Given the description of an element on the screen output the (x, y) to click on. 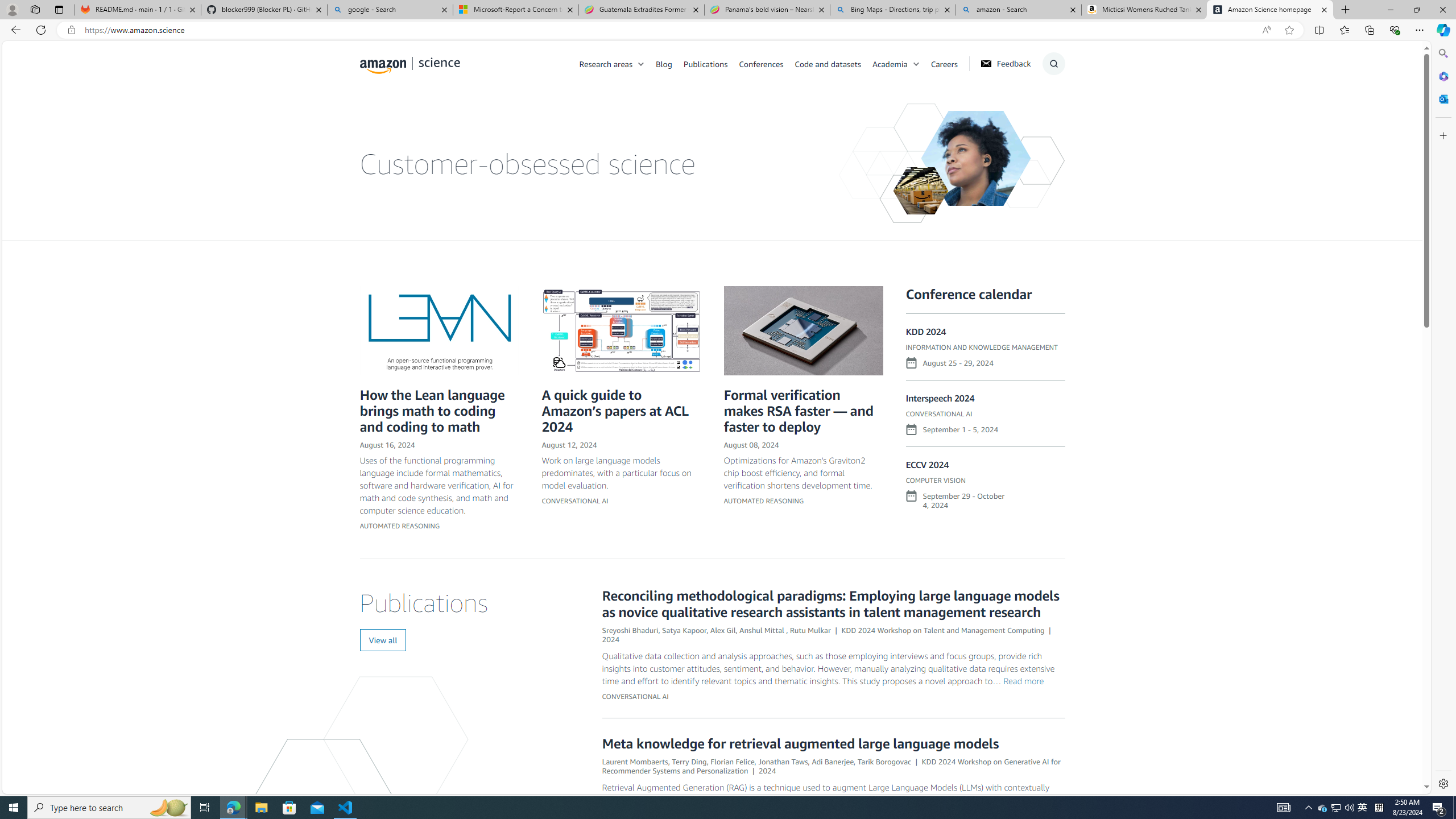
Show Search Form (1053, 63)
Conferences (760, 63)
Submit Search (1049, 108)
Amazon Science homepage (1270, 9)
Amazon Science Fulfillment Center OAK4 in Tracy, CA (920, 190)
Code and datasets (833, 63)
Research areas (606, 63)
Research areas (617, 63)
COMPUTER VISION (935, 479)
Academia (901, 63)
Meta knowledge for retrieval augmented large language models (799, 742)
AUTOMATED REASONING (763, 500)
